Given the description of an element on the screen output the (x, y) to click on. 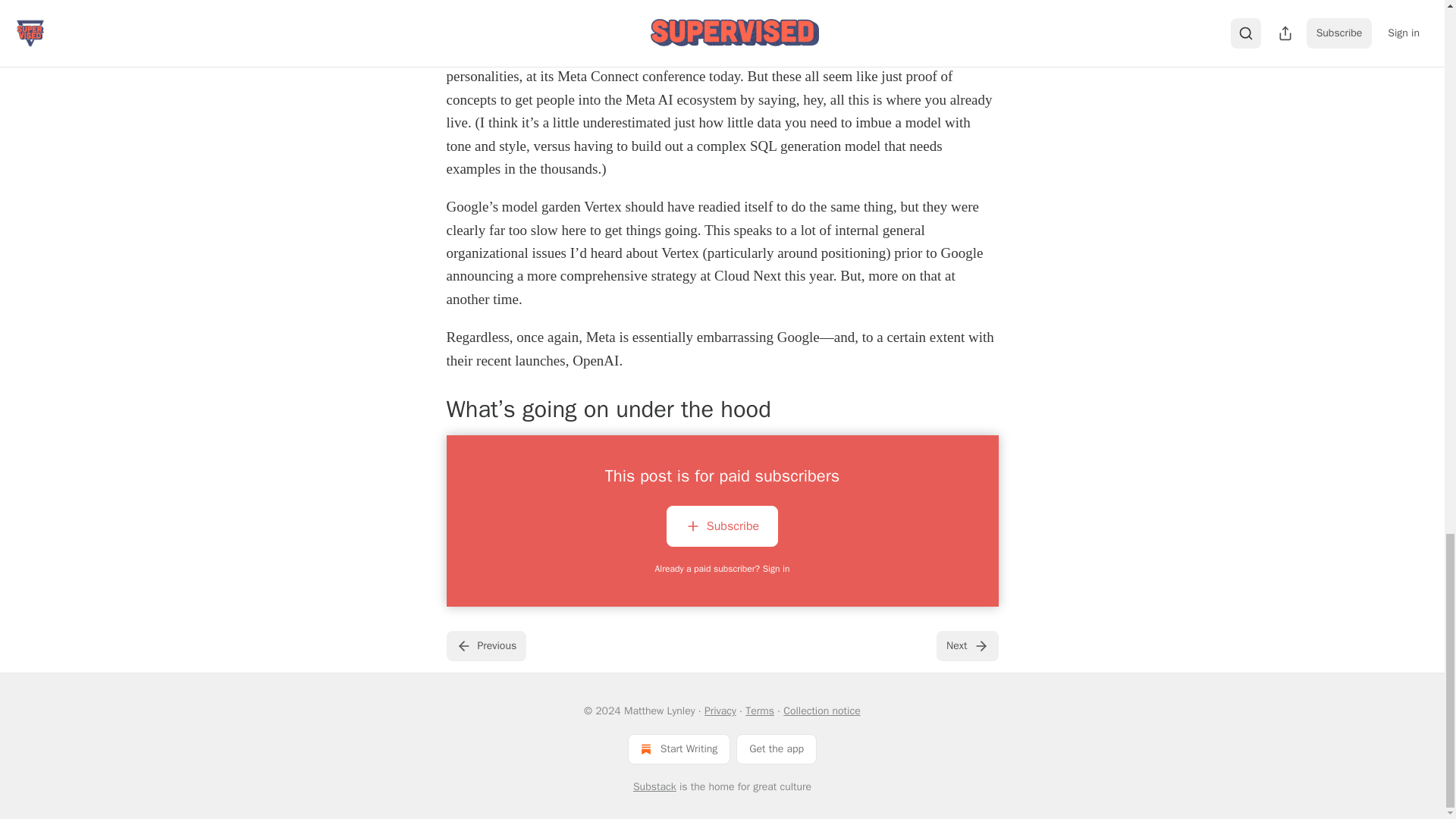
Collection notice (821, 710)
Previous (485, 645)
Substack (655, 786)
Get the app (776, 748)
Start Writing (678, 748)
Already a paid subscriber? Sign in (722, 568)
Subscribe (721, 526)
Terms (759, 710)
Next (966, 645)
Subscribe (721, 529)
Privacy (720, 710)
